Given the description of an element on the screen output the (x, y) to click on. 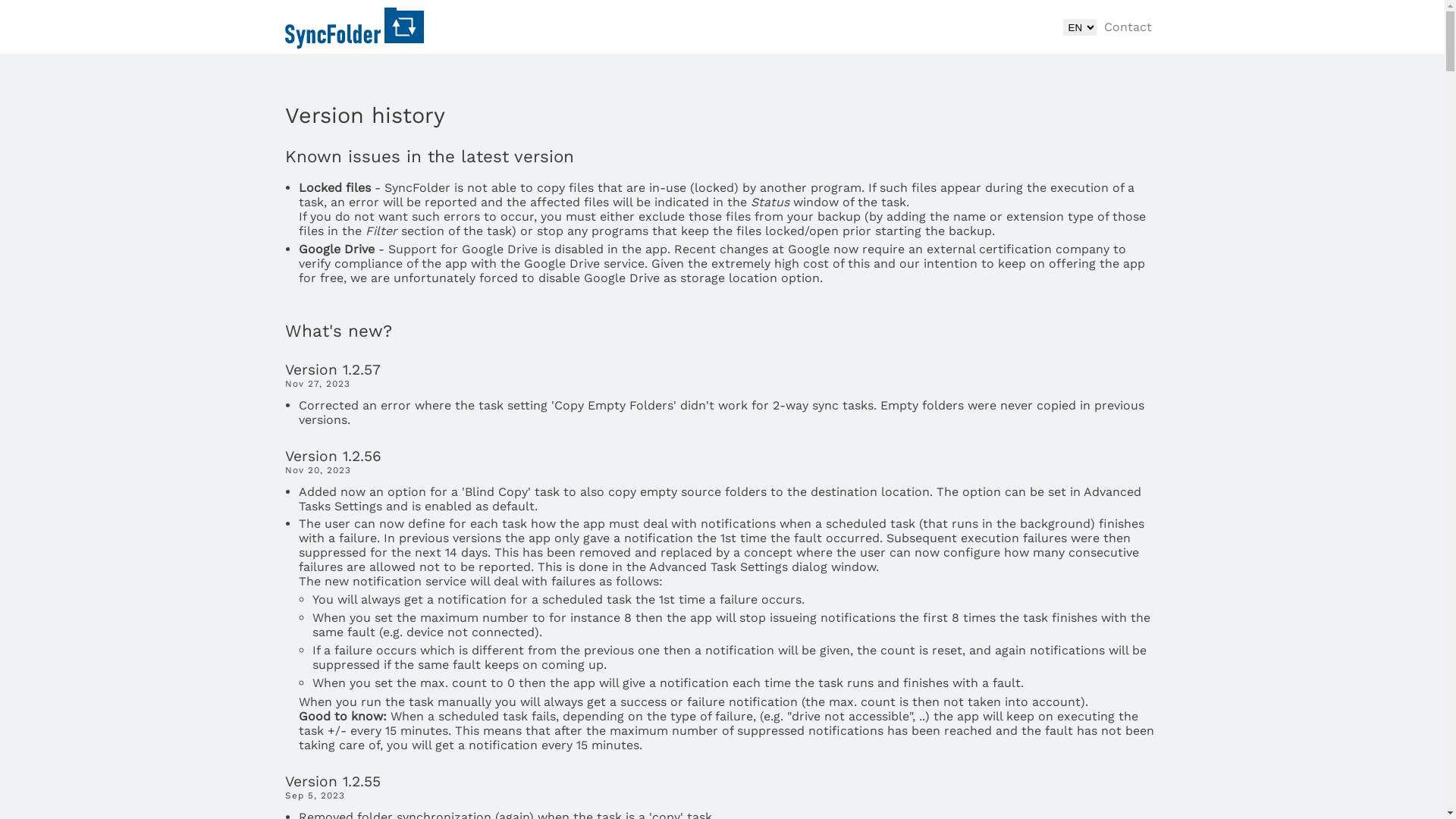
SyncFolder home Element type: hover (354, 28)
Contact Element type: text (1127, 27)
